Given the description of an element on the screen output the (x, y) to click on. 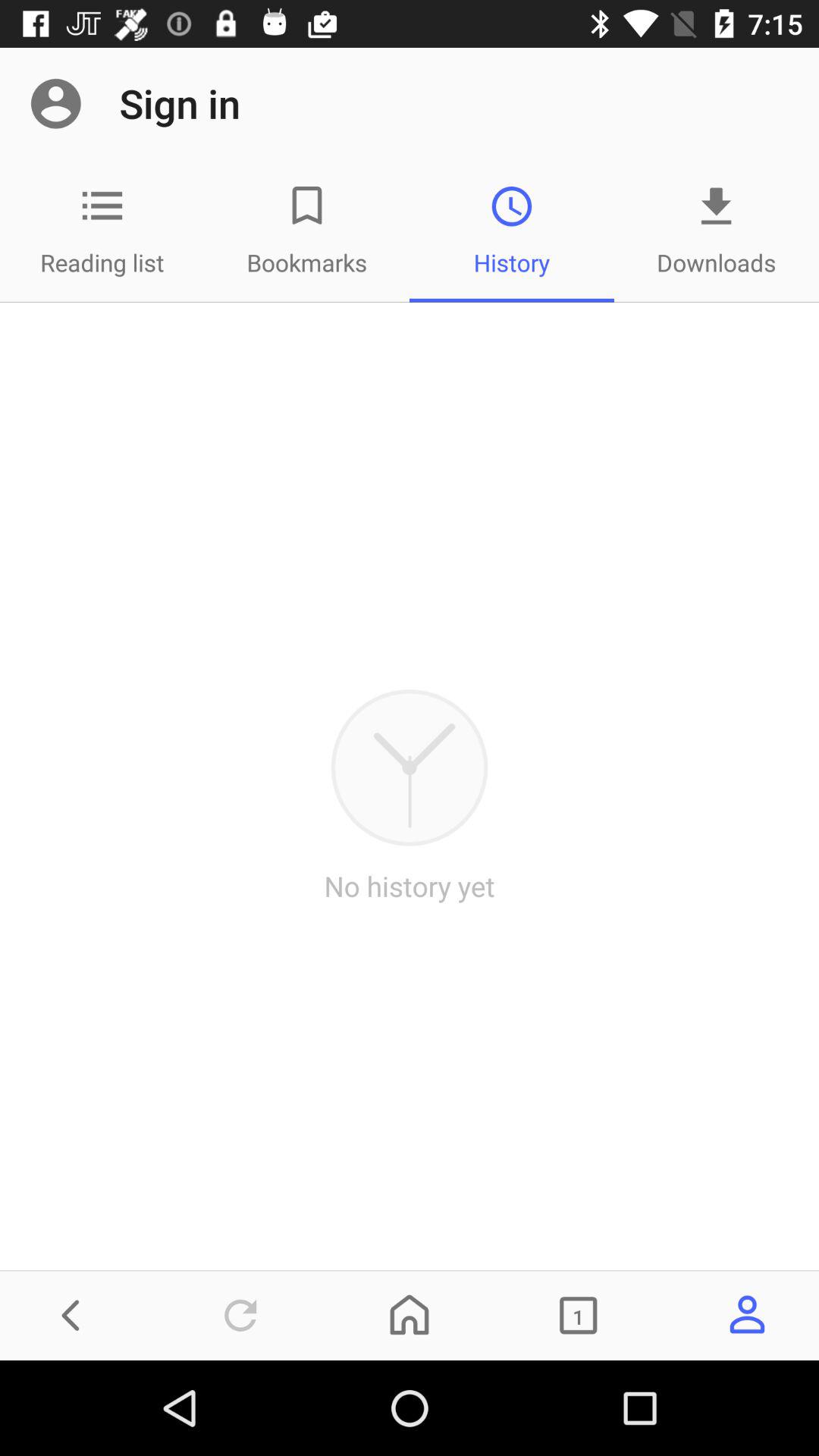
select the tab history on the web page (511, 230)
click on home icon at the bottom (409, 1315)
click on icon on the right side of home icon (578, 1315)
click on the button between bookmarks and downloads (511, 230)
click on the button between bookmarks and downloads (102, 206)
click on the home button at the bottom center of the page (409, 1315)
click on refresh (240, 1315)
select the button above downloads (716, 206)
select the button above bookmarks (307, 206)
